Given the description of an element on the screen output the (x, y) to click on. 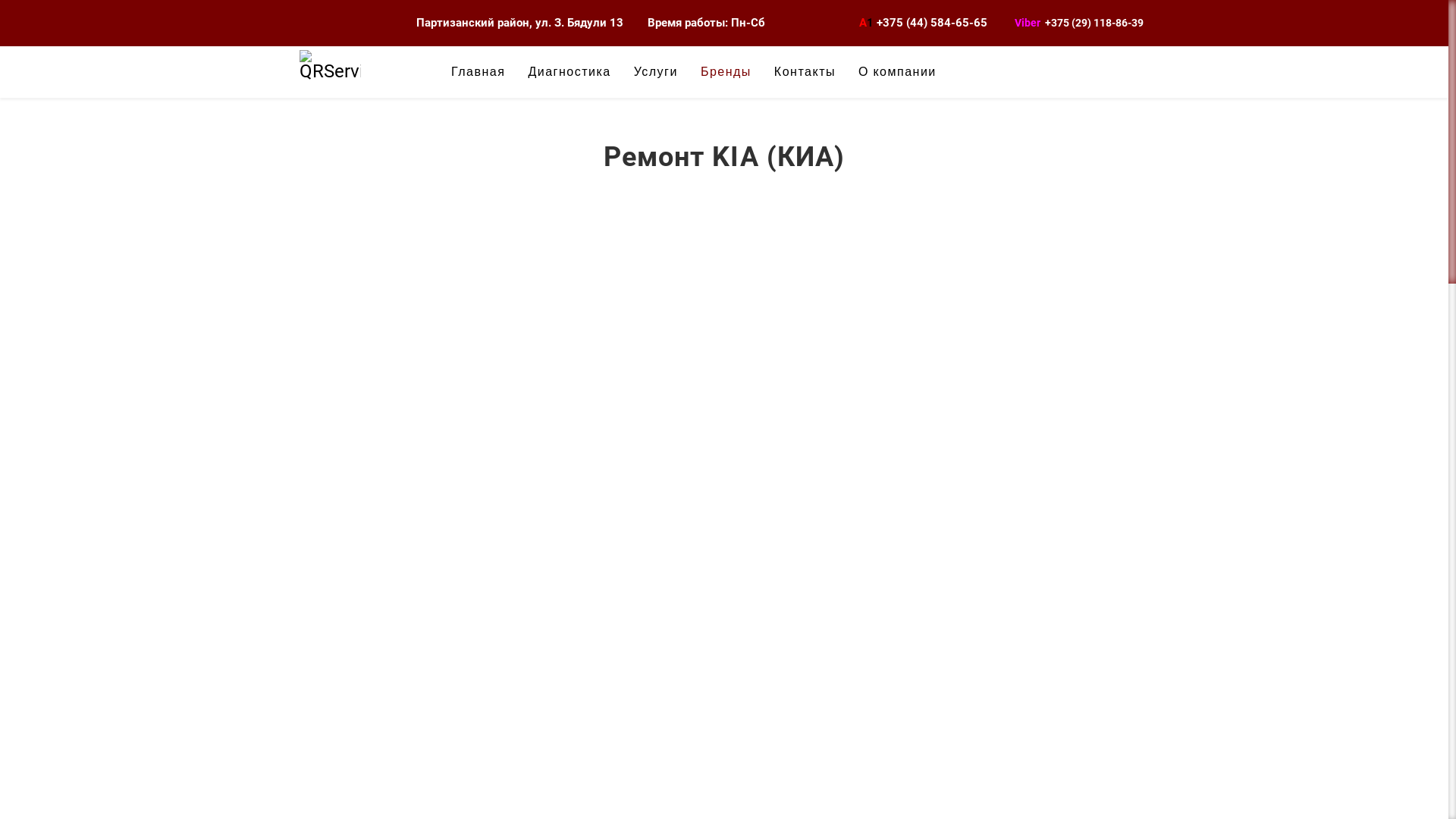
+375 (29) 118-86-39 Element type: text (1093, 22)
